Given the description of an element on the screen output the (x, y) to click on. 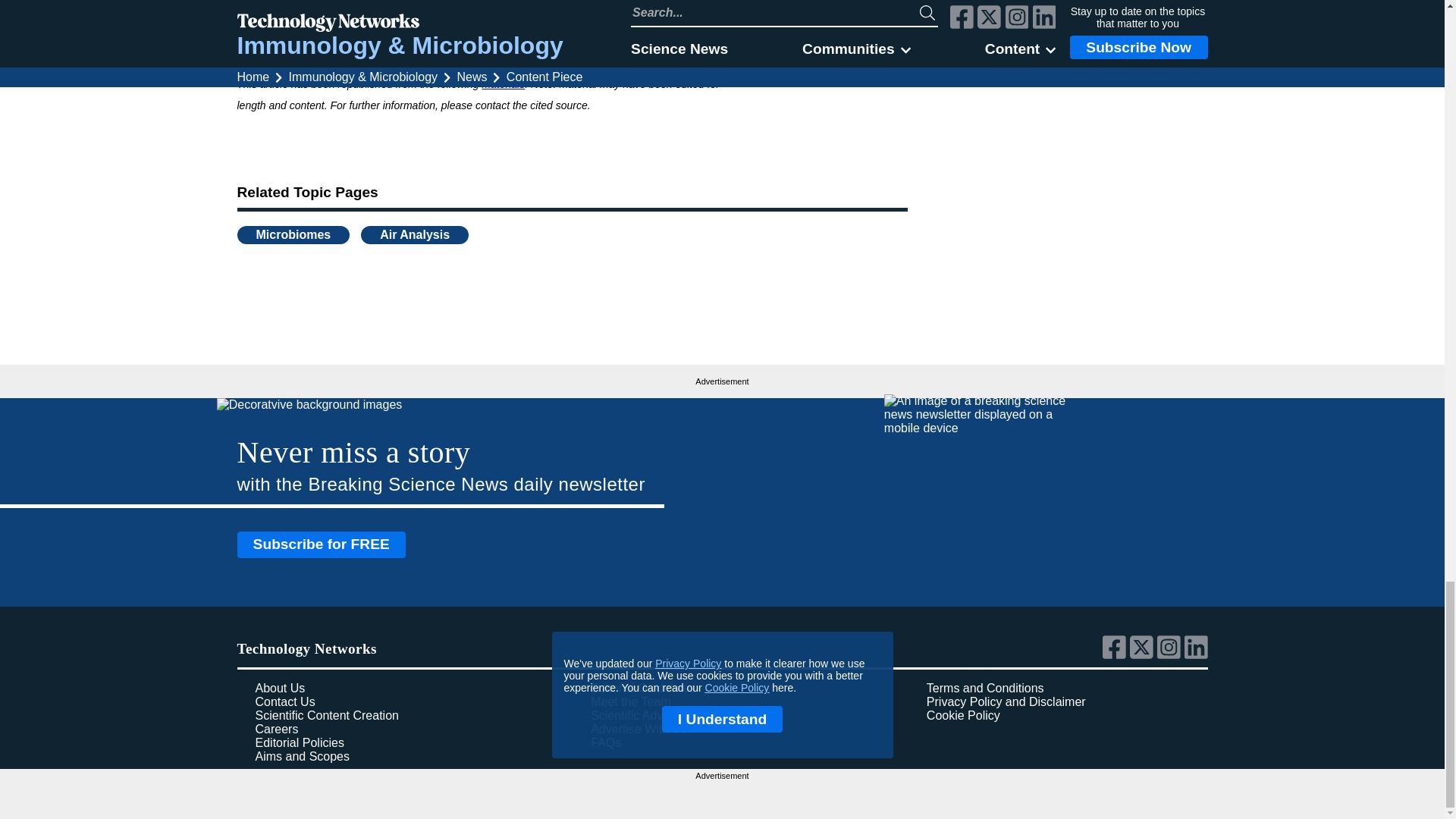
Link to Technology Networks' facebook page (1115, 655)
Link to Technology Networks' linkedin page (1196, 655)
Link to Technology Networks' twitter page (1143, 655)
Link to Technology Networks' instagram page (1171, 655)
